Given the description of an element on the screen output the (x, y) to click on. 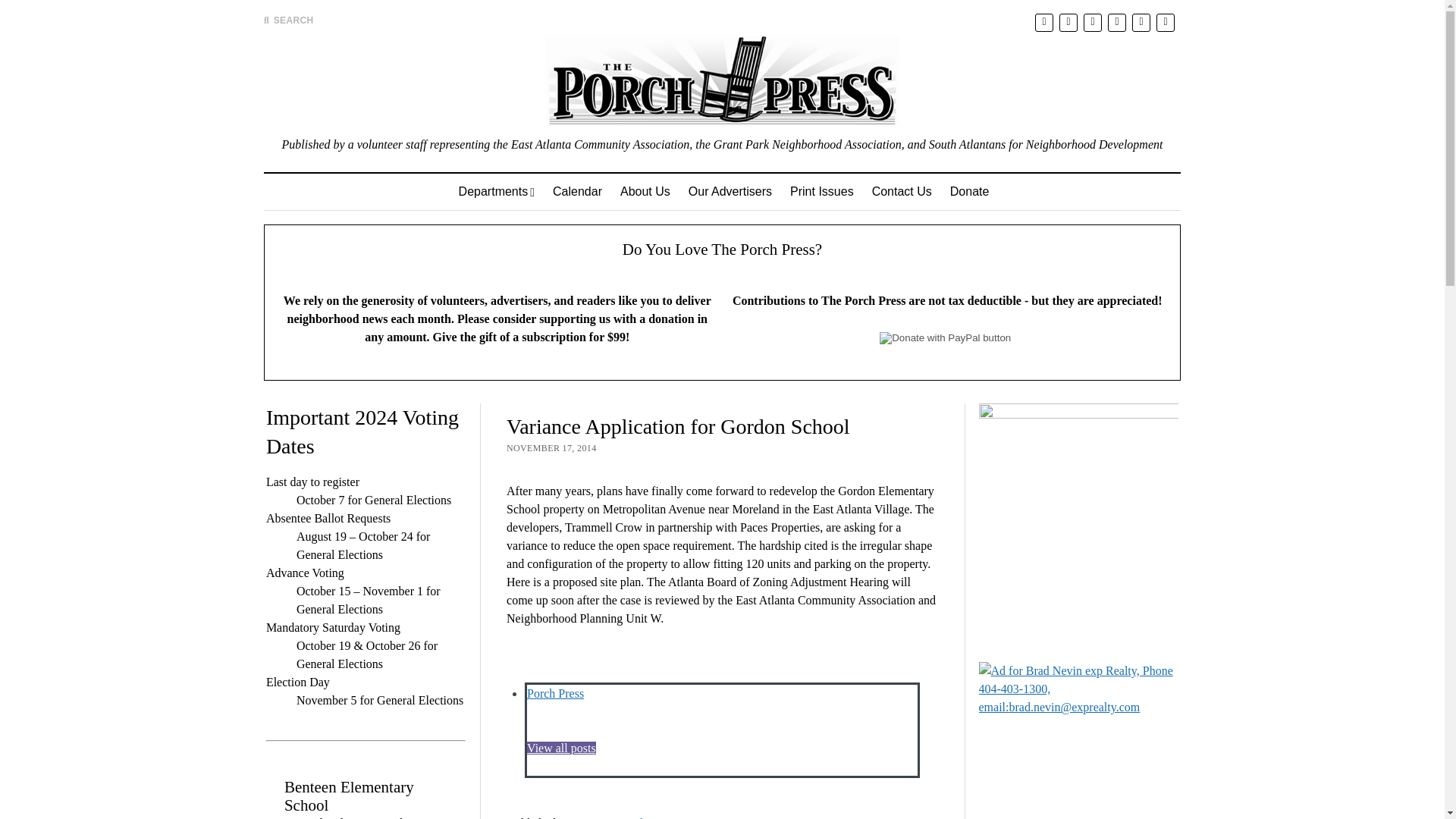
Search (945, 129)
Our Advertisers (729, 191)
View all posts (561, 757)
Contact Us (901, 191)
Departments (496, 191)
Print Issues (821, 191)
Calendar (577, 191)
View all posts in Uncategorized (606, 817)
About Us (645, 191)
PayPal - The safer, easier way to pay online! (944, 337)
